Given the description of an element on the screen output the (x, y) to click on. 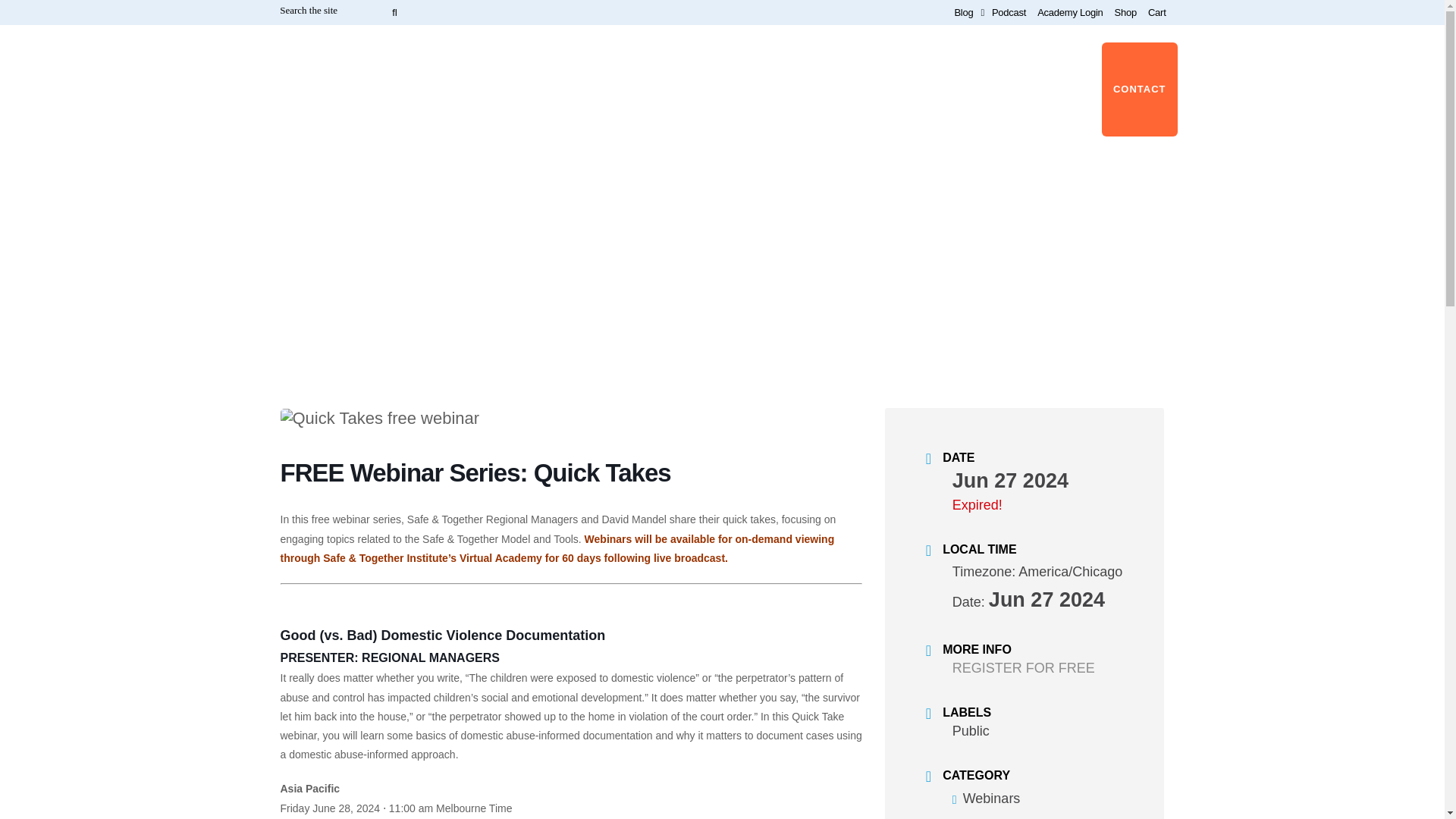
Podcast (1008, 12)
Academy Login (1064, 12)
Blog (957, 12)
Shop (1120, 12)
TRAINER CERTIFICATION PROGRAM (664, 93)
Cart (1151, 12)
